Given the description of an element on the screen output the (x, y) to click on. 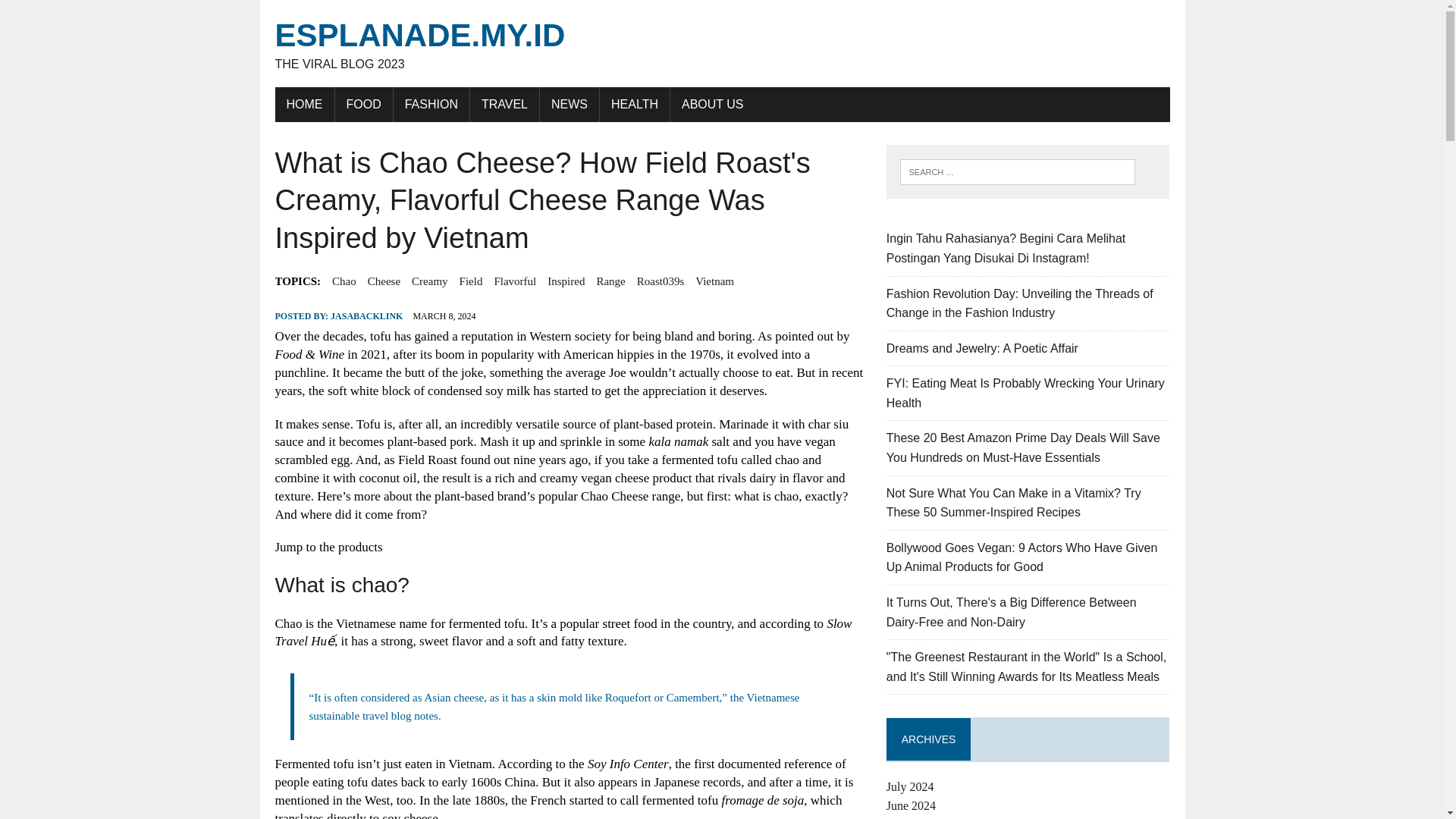
JASABACKLINK (366, 316)
HEALTH (634, 104)
Field (471, 280)
Roast039s (660, 280)
Range (609, 280)
Dreams and Jewelry: A Poetic Affair (982, 348)
Chao (343, 280)
FYI: Eating Meat Is Probably Wrecking Your Urinary Health (1025, 392)
